Given the description of an element on the screen output the (x, y) to click on. 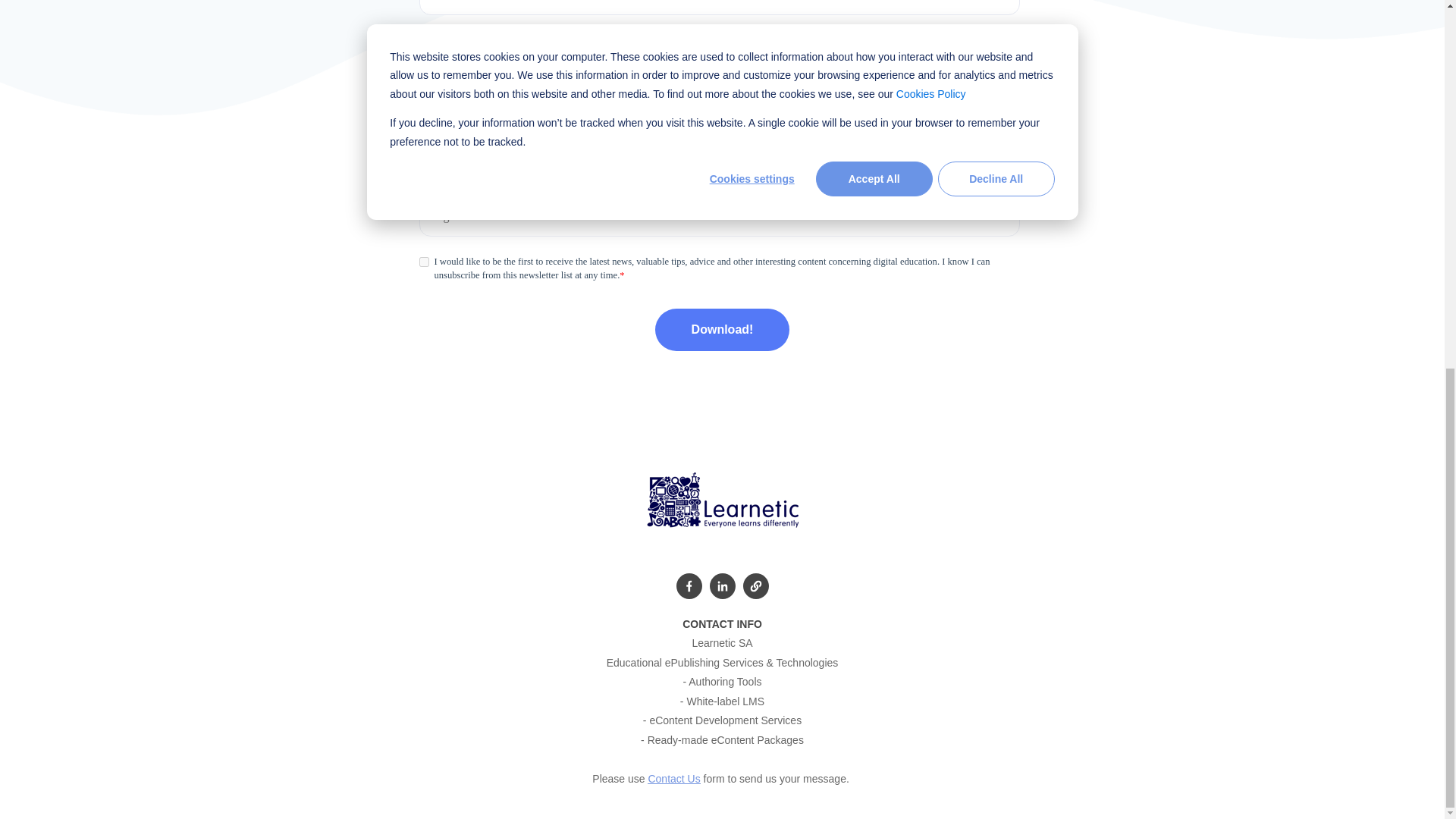
Download! (722, 329)
Download! (722, 329)
true (423, 261)
Contact Us (673, 778)
